Given the description of an element on the screen output the (x, y) to click on. 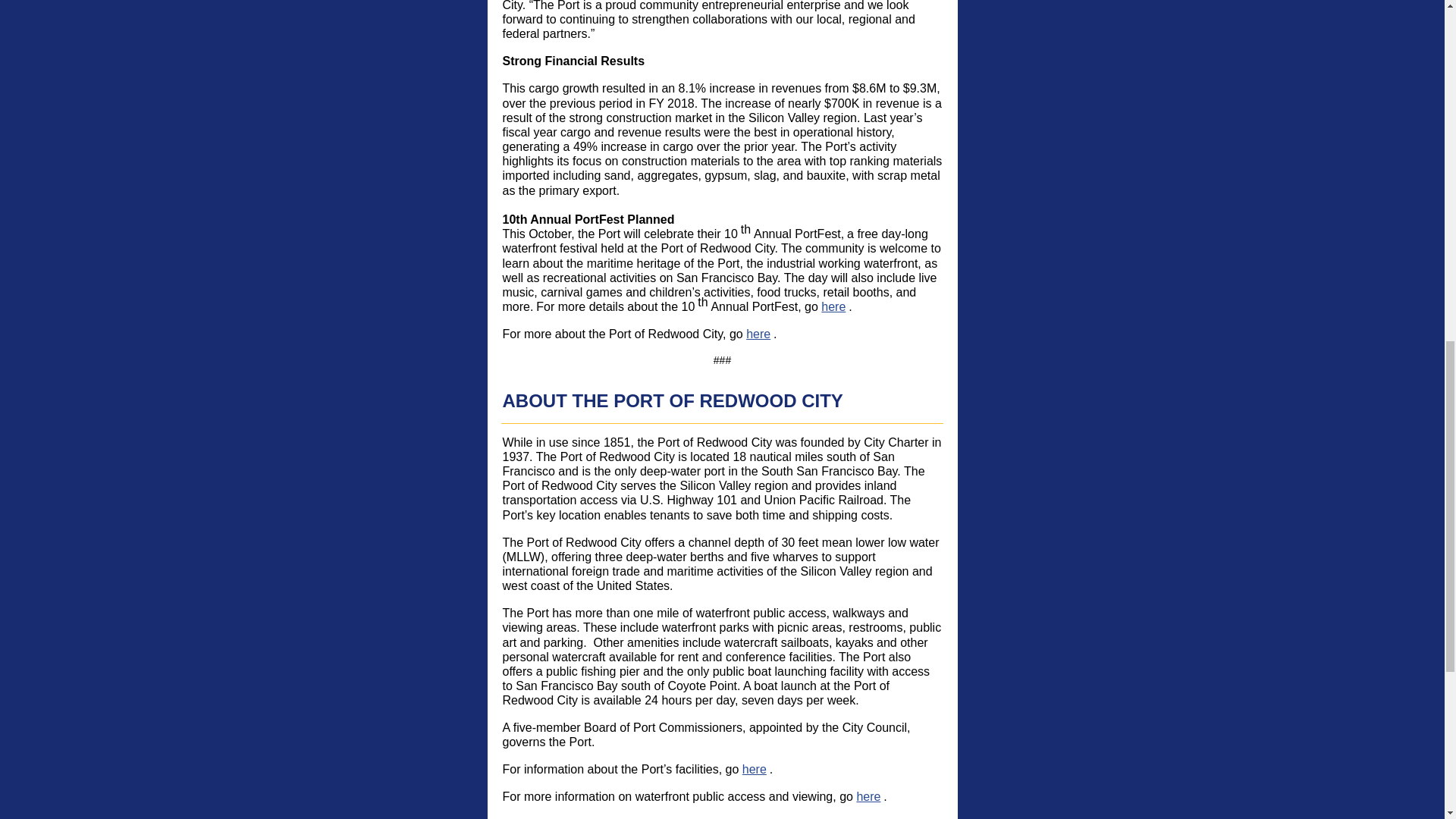
here (833, 306)
here (868, 796)
here (770, 818)
here (757, 333)
here (754, 768)
